Given the description of an element on the screen output the (x, y) to click on. 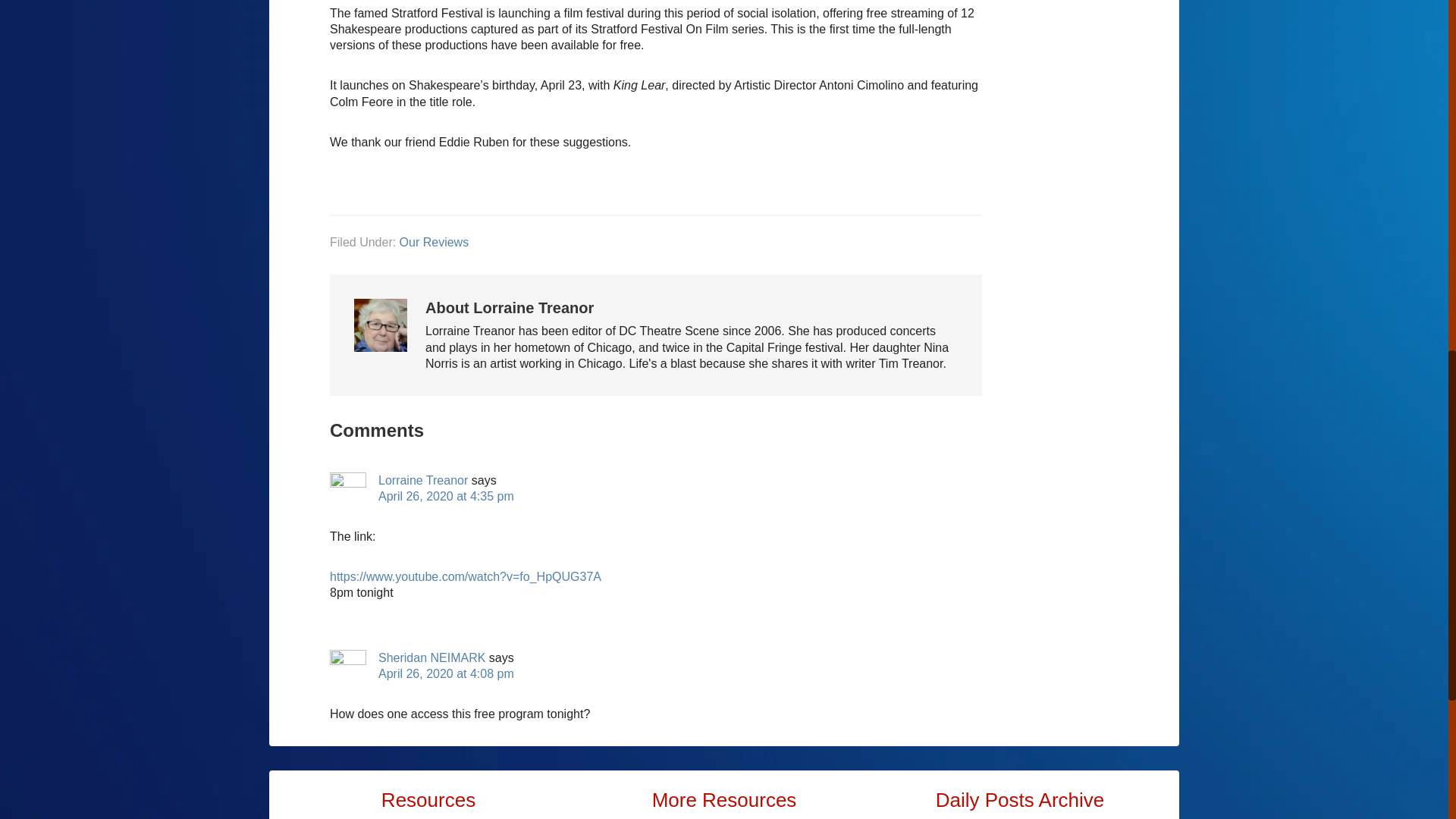
Lorraine Treanor (422, 480)
Our Reviews (433, 241)
Sheridan NEIMARK (431, 657)
April 26, 2020 at 4:35 pm (445, 495)
